Given the description of an element on the screen output the (x, y) to click on. 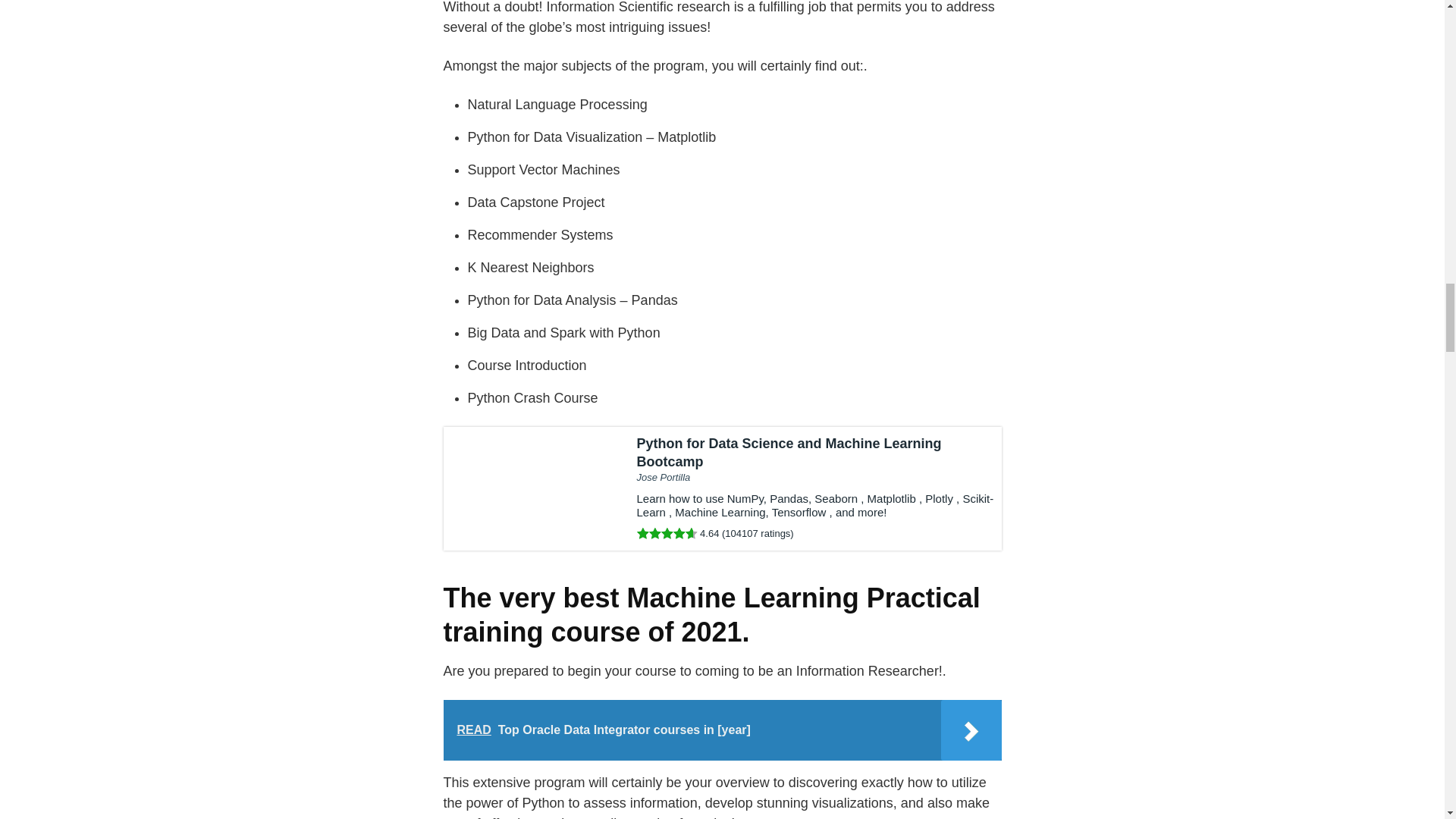
Python for Data Science and Machine Learning Bootcamp (721, 488)
